Given the description of an element on the screen output the (x, y) to click on. 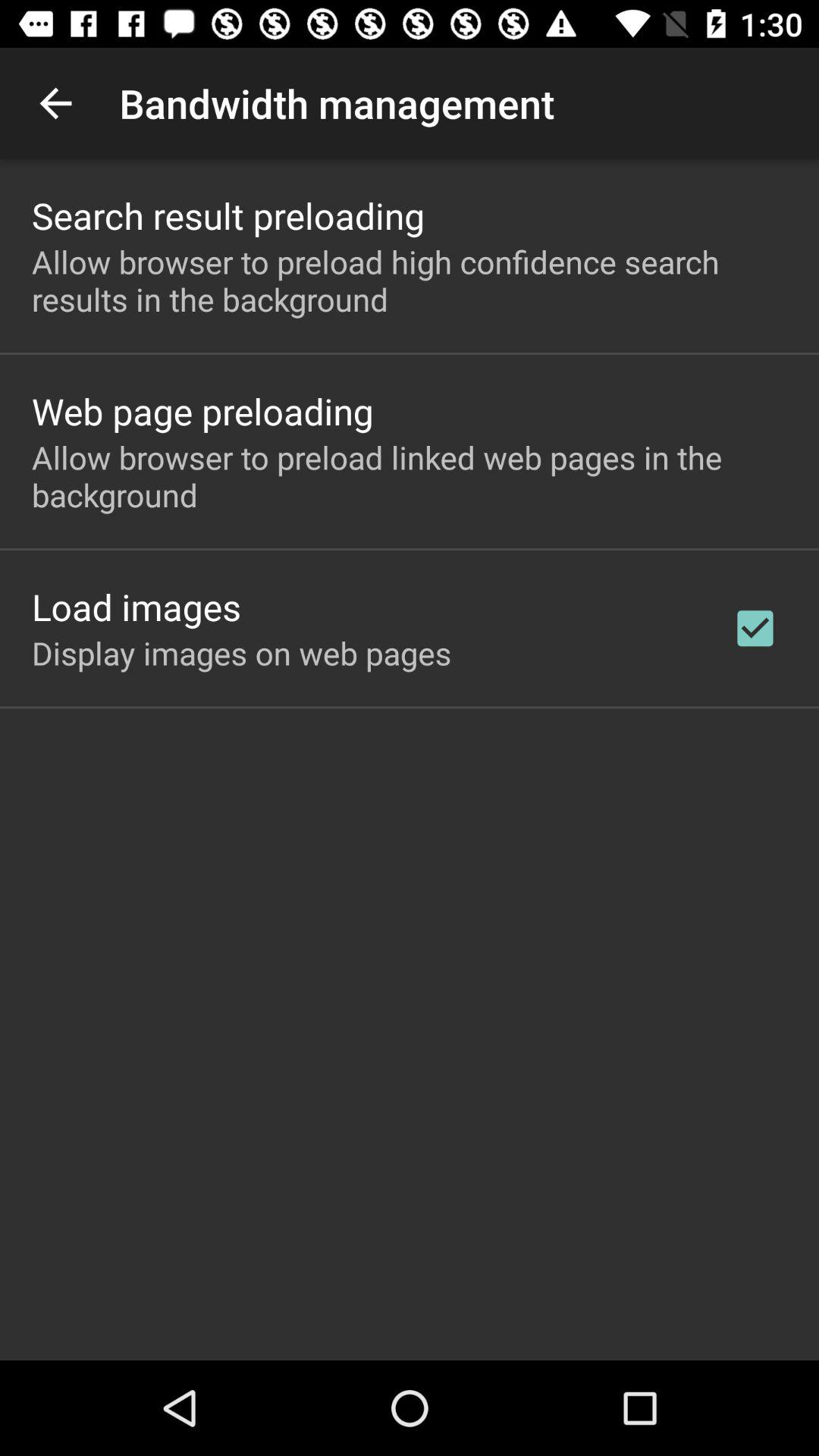
turn on the item below the allow browser to app (136, 606)
